Given the description of an element on the screen output the (x, y) to click on. 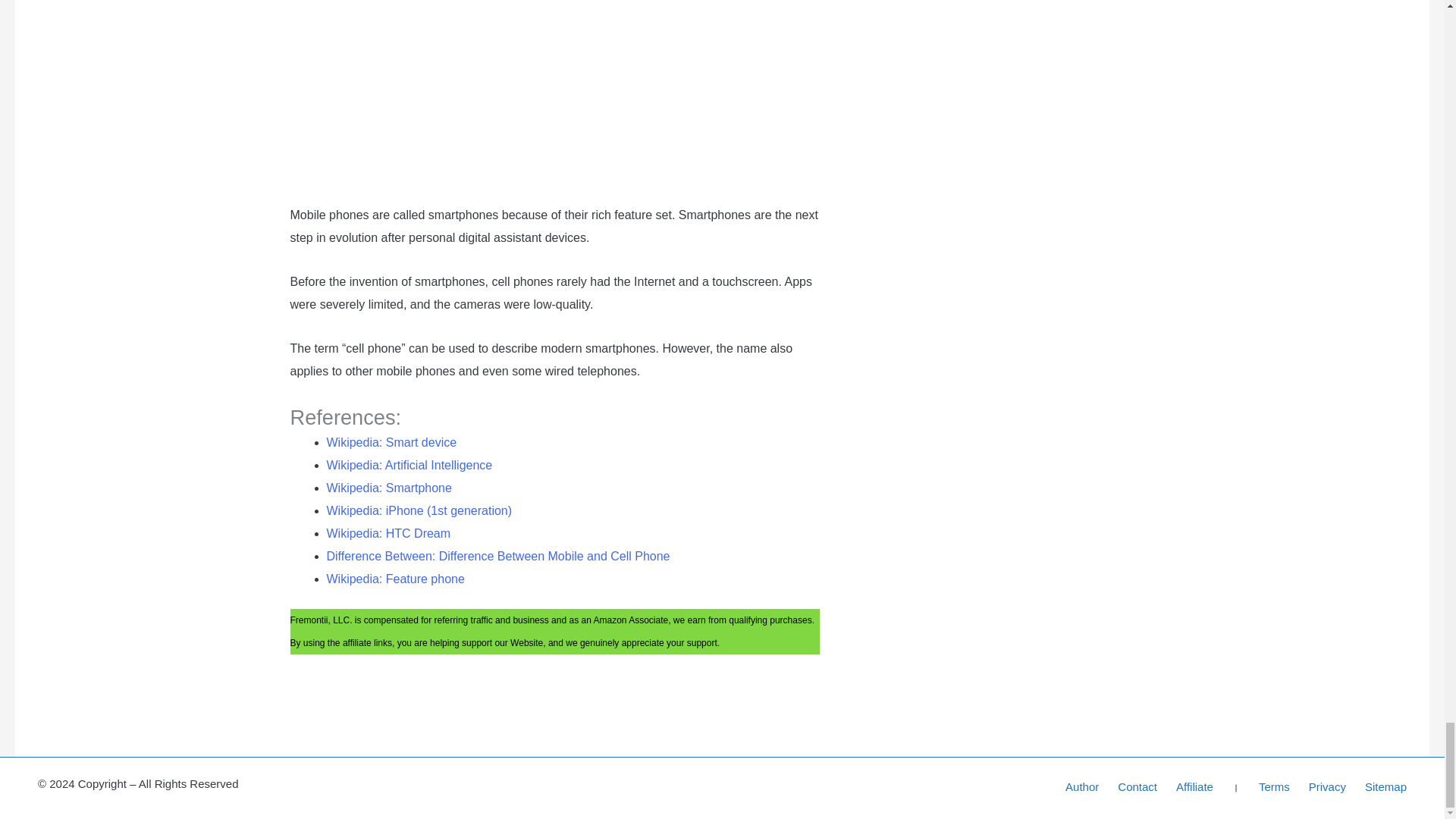
Wikipedia: Artificial Intelligence (409, 464)
Wikipedia: Smart device (391, 441)
Wikipedia: HTC Dream (387, 533)
Wikipedia: Smartphone (388, 487)
